Given the description of an element on the screen output the (x, y) to click on. 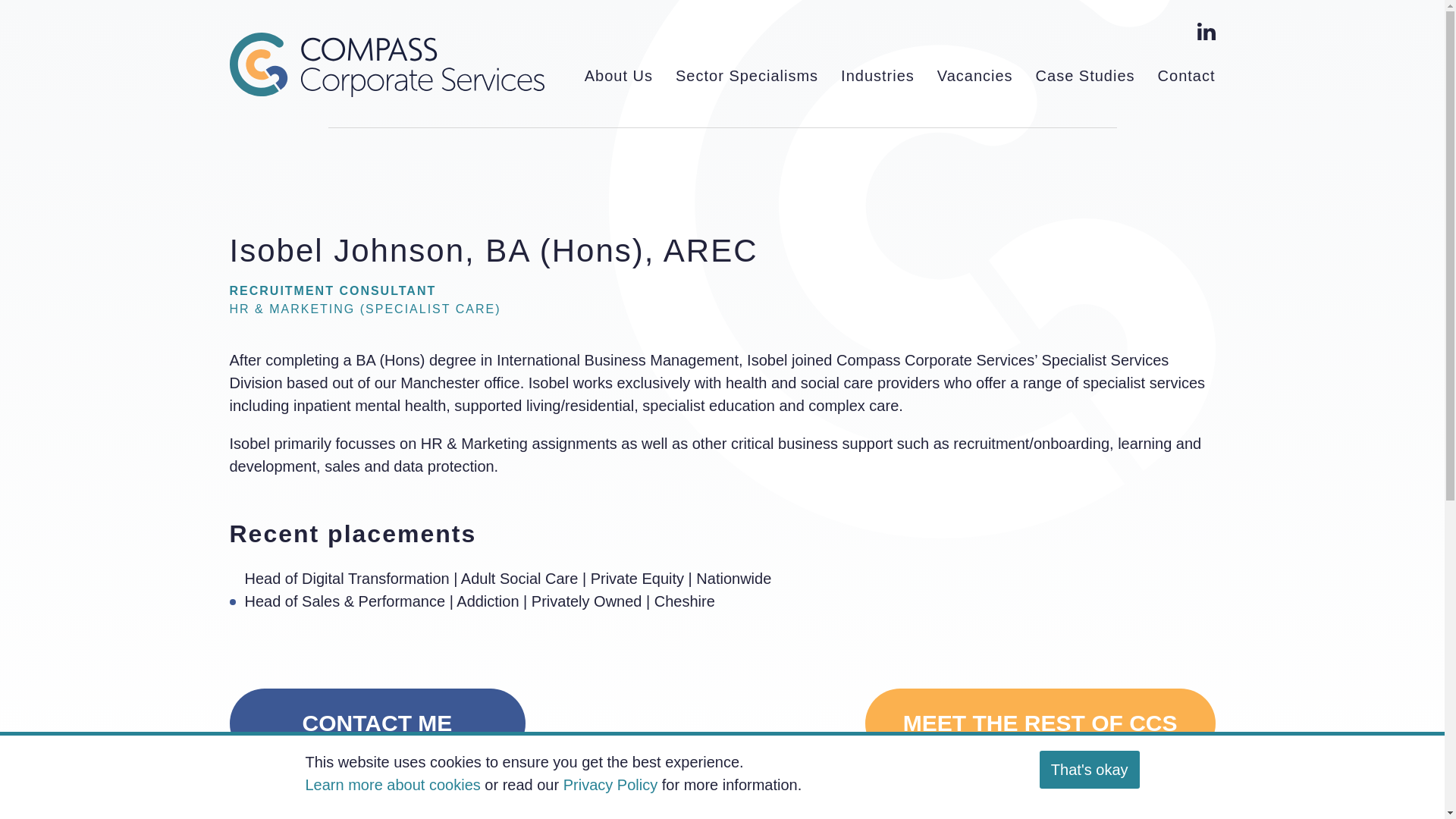
CONTACT ME (376, 723)
Sector Specialisms (746, 75)
MEET THE REST OF CCS (1039, 723)
About Us (618, 75)
Contact (1186, 75)
Vacancies (975, 75)
Industries (877, 75)
Case Studies (1085, 75)
